Given the description of an element on the screen output the (x, y) to click on. 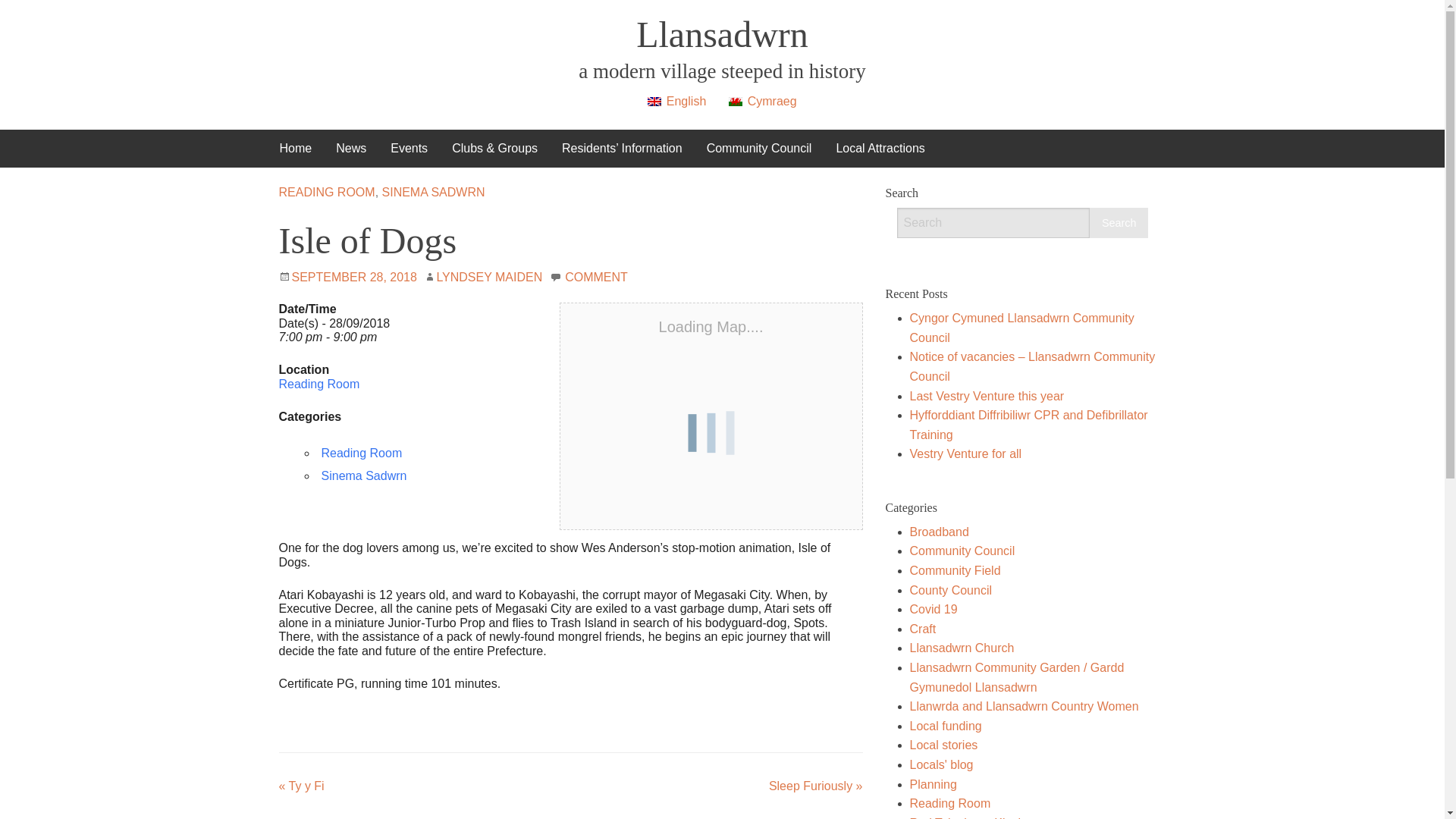
READING ROOM (327, 192)
SEPTEMBER 28, 2018 (353, 277)
View all posts in Reading Room (327, 192)
Search (1118, 223)
News (350, 148)
Llansadwrn (722, 34)
English (676, 101)
Home (294, 148)
Community Council (759, 148)
Cymraeg (761, 101)
View all posts in Sinema Sadwrn (432, 192)
SINEMA SADWRN (432, 192)
Local Attractions (880, 148)
Events (408, 148)
